Given the description of an element on the screen output the (x, y) to click on. 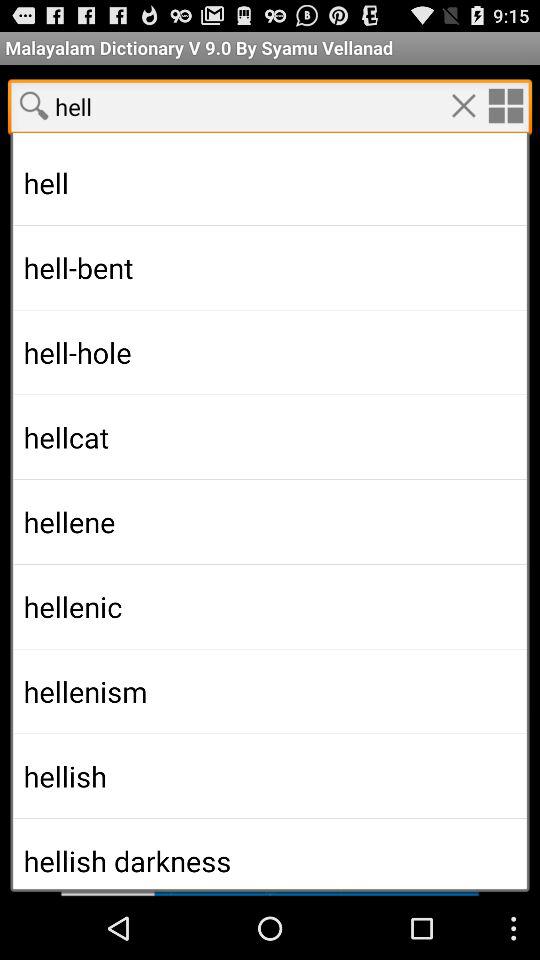
serch (34, 105)
